Given the description of an element on the screen output the (x, y) to click on. 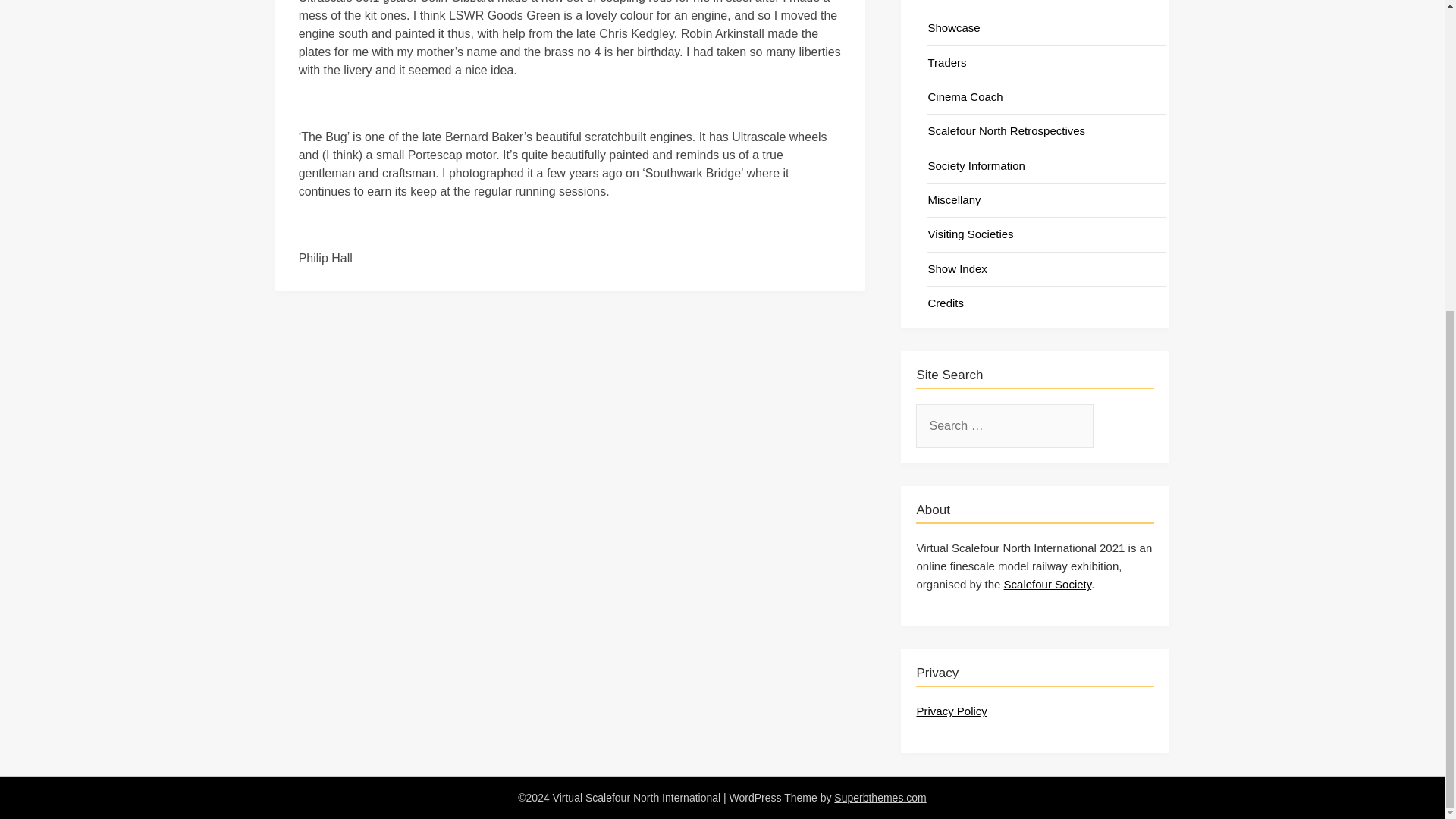
Society Information (976, 164)
Superbthemes.com (880, 797)
Show Index (957, 268)
Scalefour Society (1048, 584)
Scalefour North Retrospectives (1005, 130)
Showcase (953, 27)
Privacy Policy (951, 710)
Miscellany (953, 199)
Visiting Societies (970, 233)
Credits (945, 302)
